Given the description of an element on the screen output the (x, y) to click on. 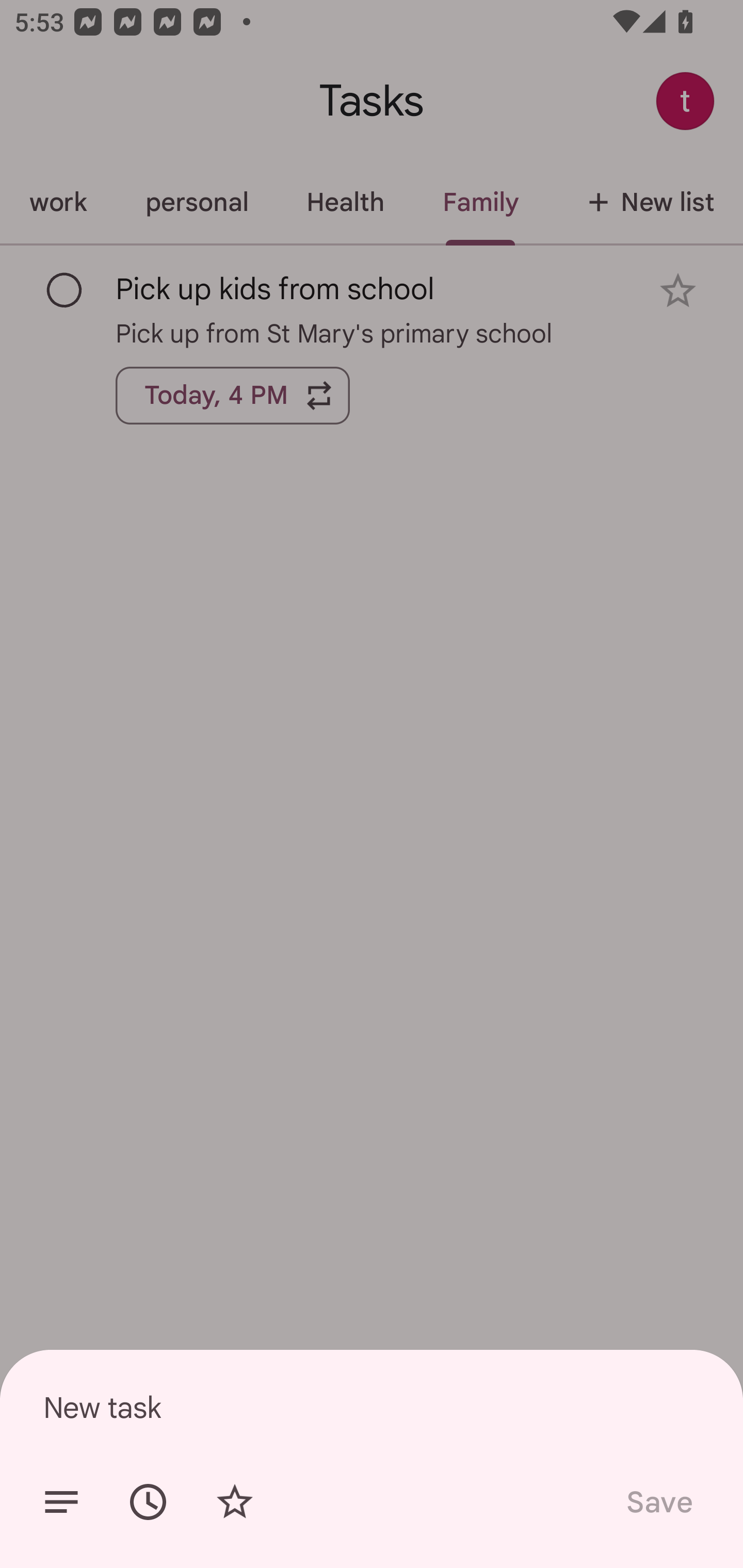
New task (371, 1407)
Save (659, 1501)
Add details (60, 1501)
Set date/time (147, 1501)
Add star (234, 1501)
